Given the description of an element on the screen output the (x, y) to click on. 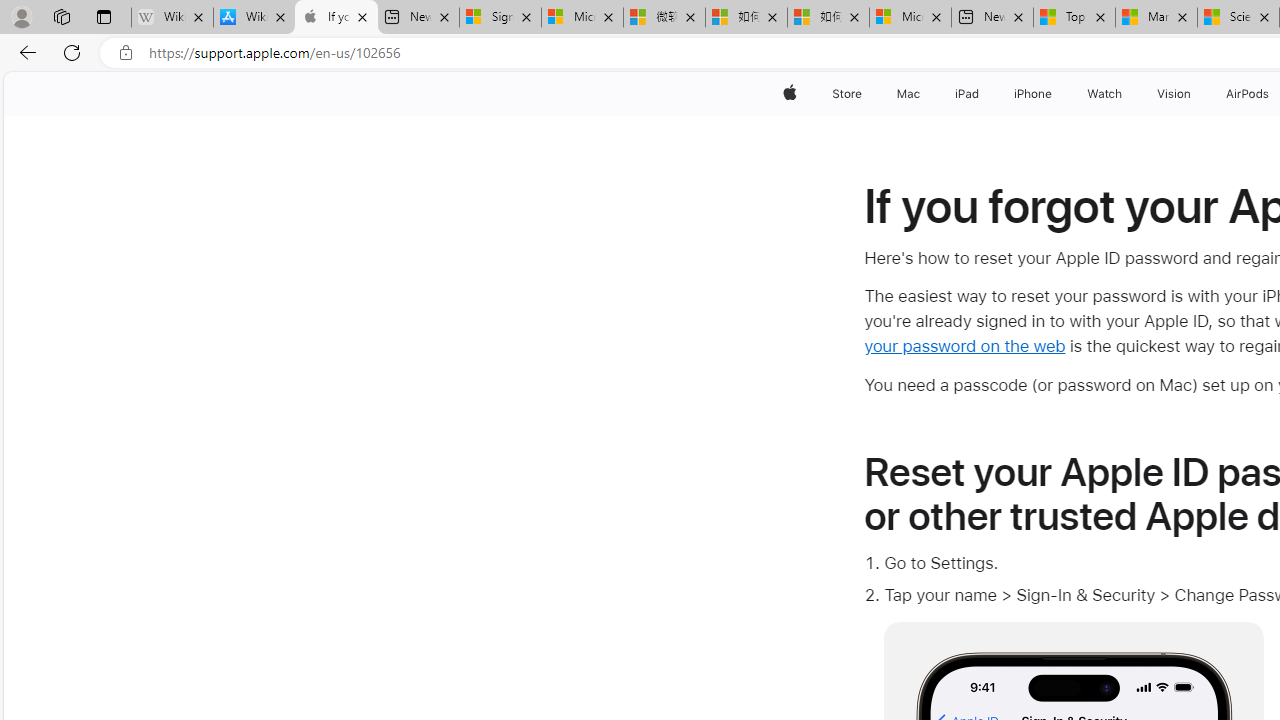
Vision (1174, 93)
AirPods (1247, 93)
